Given the description of an element on the screen output the (x, y) to click on. 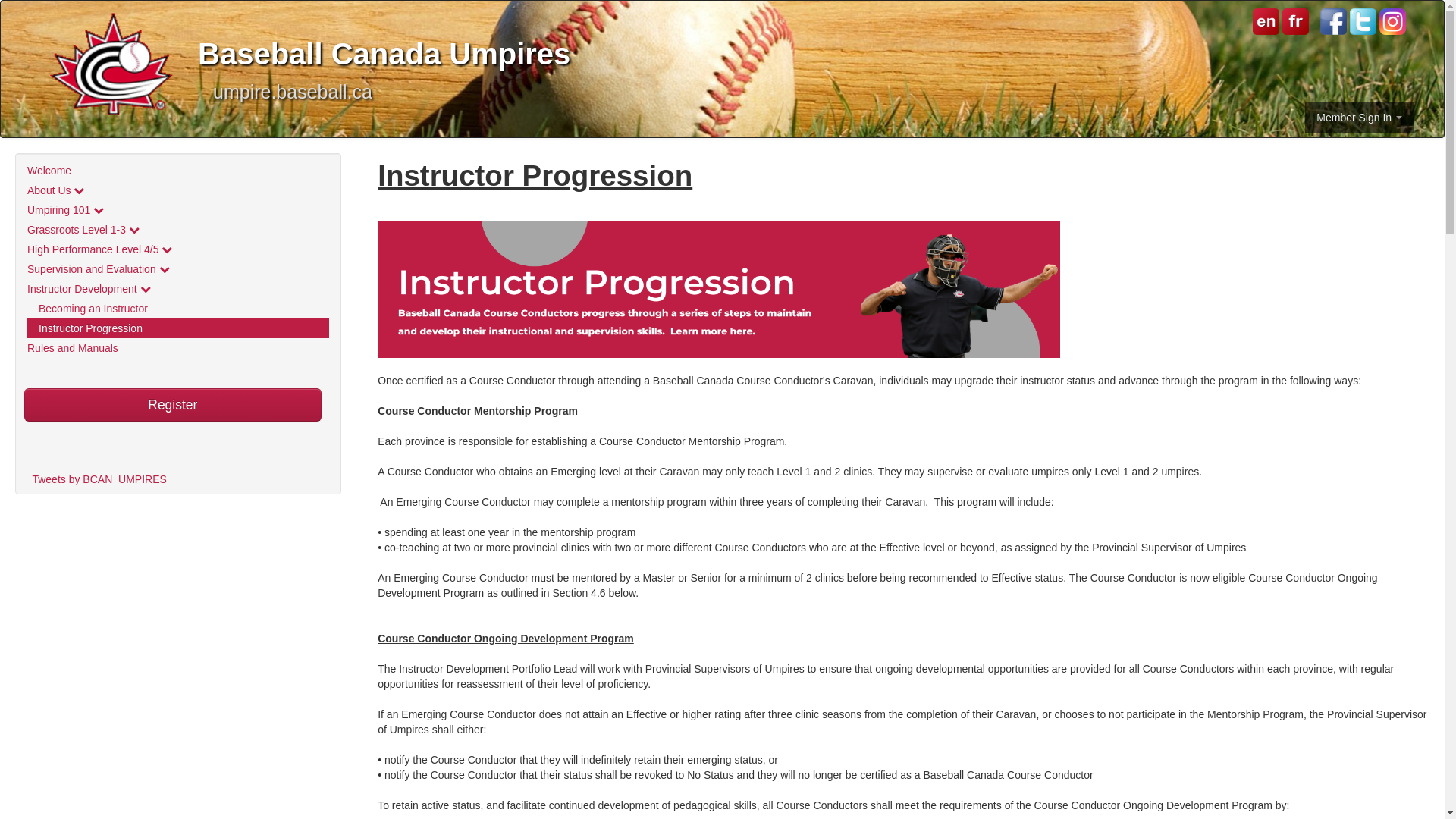
Francais Element type: hover (1293, 20)
Instructor Development Element type: text (177, 288)
Instructor Progression Element type: text (178, 328)
Grassroots Level 1-3 Element type: text (177, 229)
Supervision and Evaluation Element type: text (177, 269)
Welcome Element type: text (177, 170)
Becoming an Instructor Element type: text (178, 308)
Register Element type: text (172, 404)
Baseball Canada Umpires
umpire.baseball.ca Element type: text (722, 50)
About Us Element type: text (177, 190)
Tweets by BCAN_UMPIRES Element type: text (98, 479)
 on Twitter Element type: hover (1362, 21)
High Performance Level 4/5 Element type: text (177, 249)
Umpiring 101 Element type: text (177, 209)
Member Sign In Element type: text (1359, 117)
 on Facebook Element type: hover (1333, 21)
English Element type: hover (1265, 20)
 on Instagram Element type: hover (1392, 21)
Rules and Manuals Element type: text (177, 347)
